Given the description of an element on the screen output the (x, y) to click on. 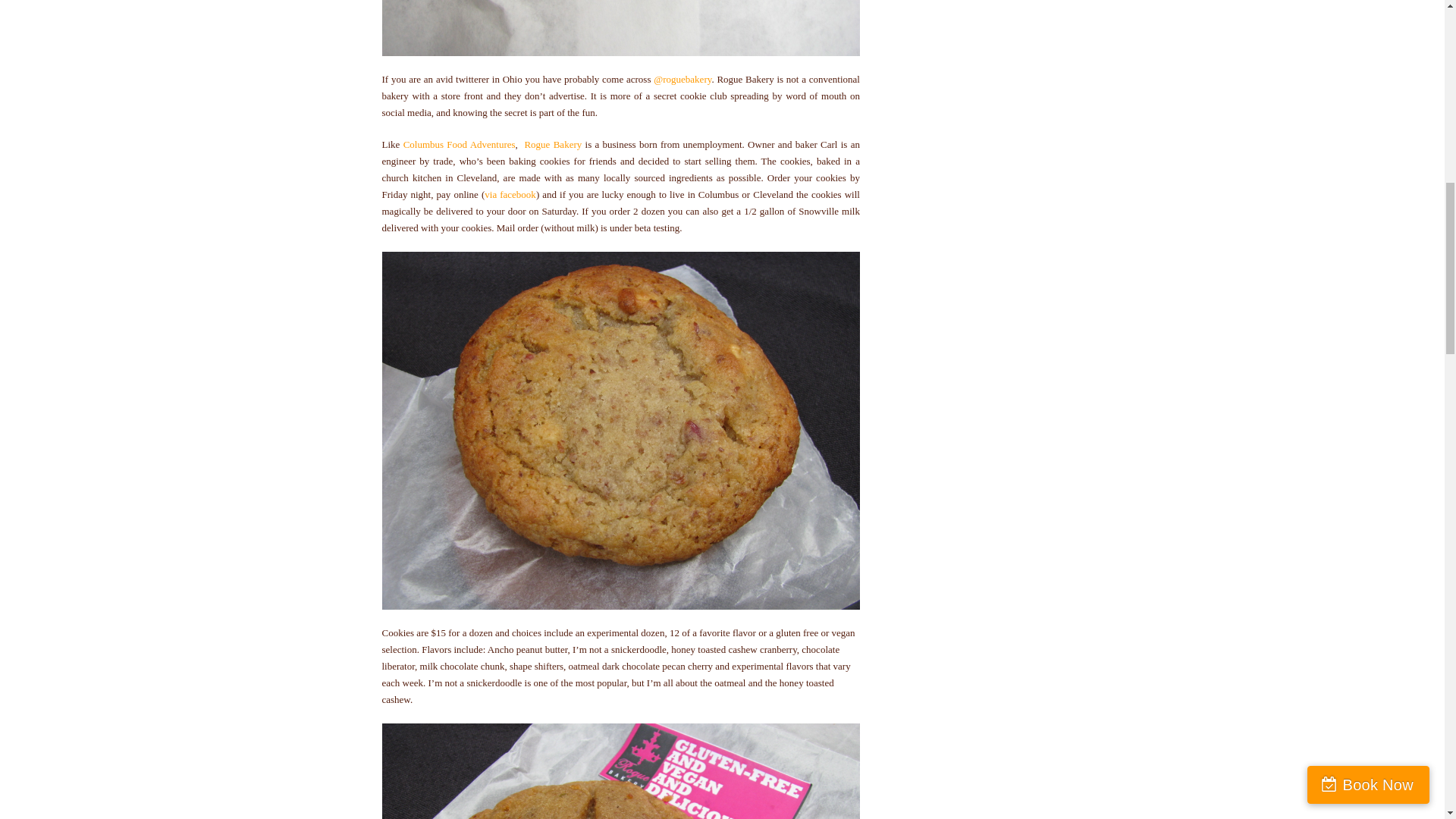
FareHarbor (1342, 64)
